Given the description of an element on the screen output the (x, y) to click on. 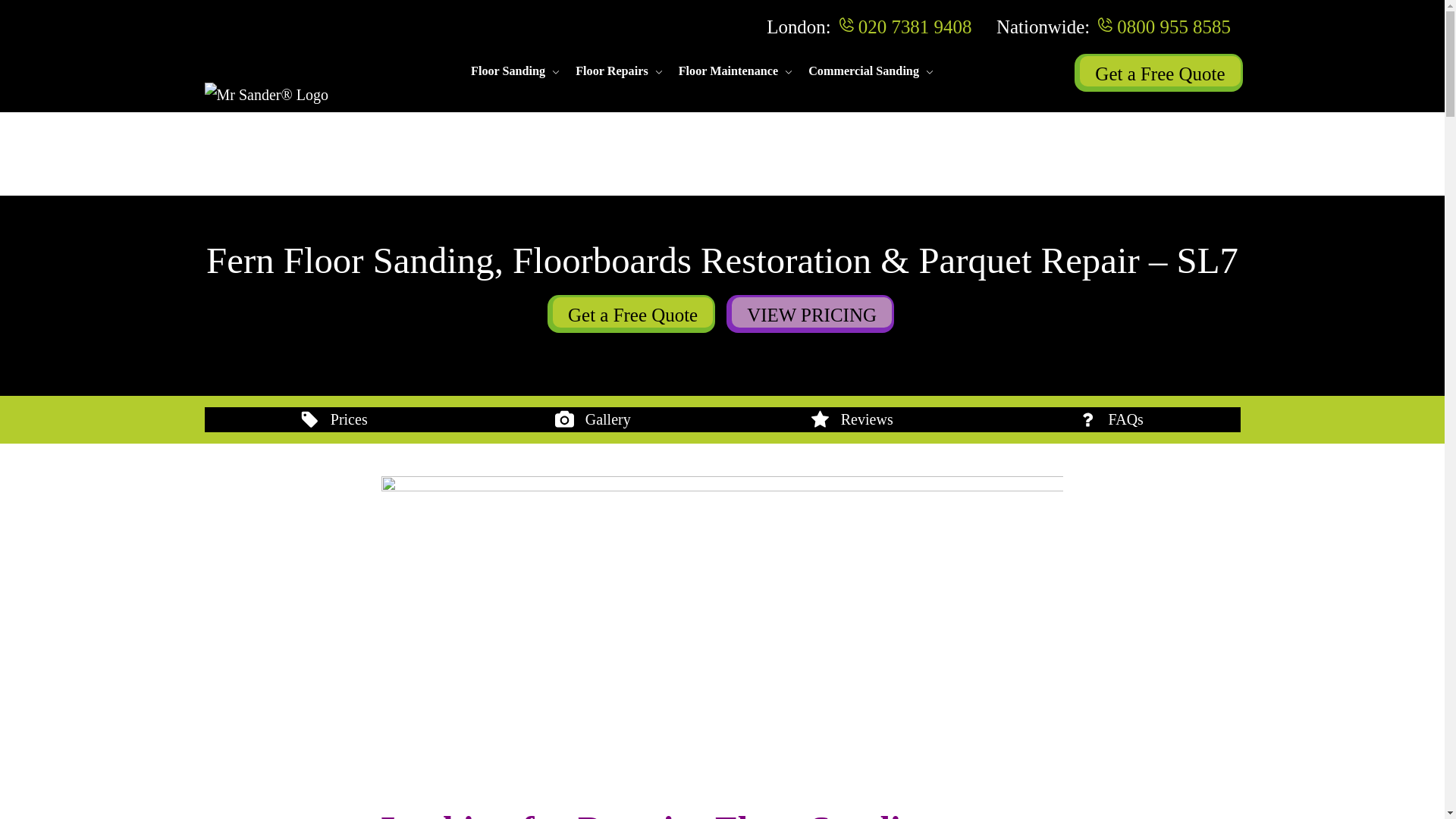
0800 955 8585 (1173, 26)
Floor Repairs (611, 71)
Floor Maintenance (727, 71)
Floor Sanding (507, 71)
020 7381 9408 (915, 26)
